Given the description of an element on the screen output the (x, y) to click on. 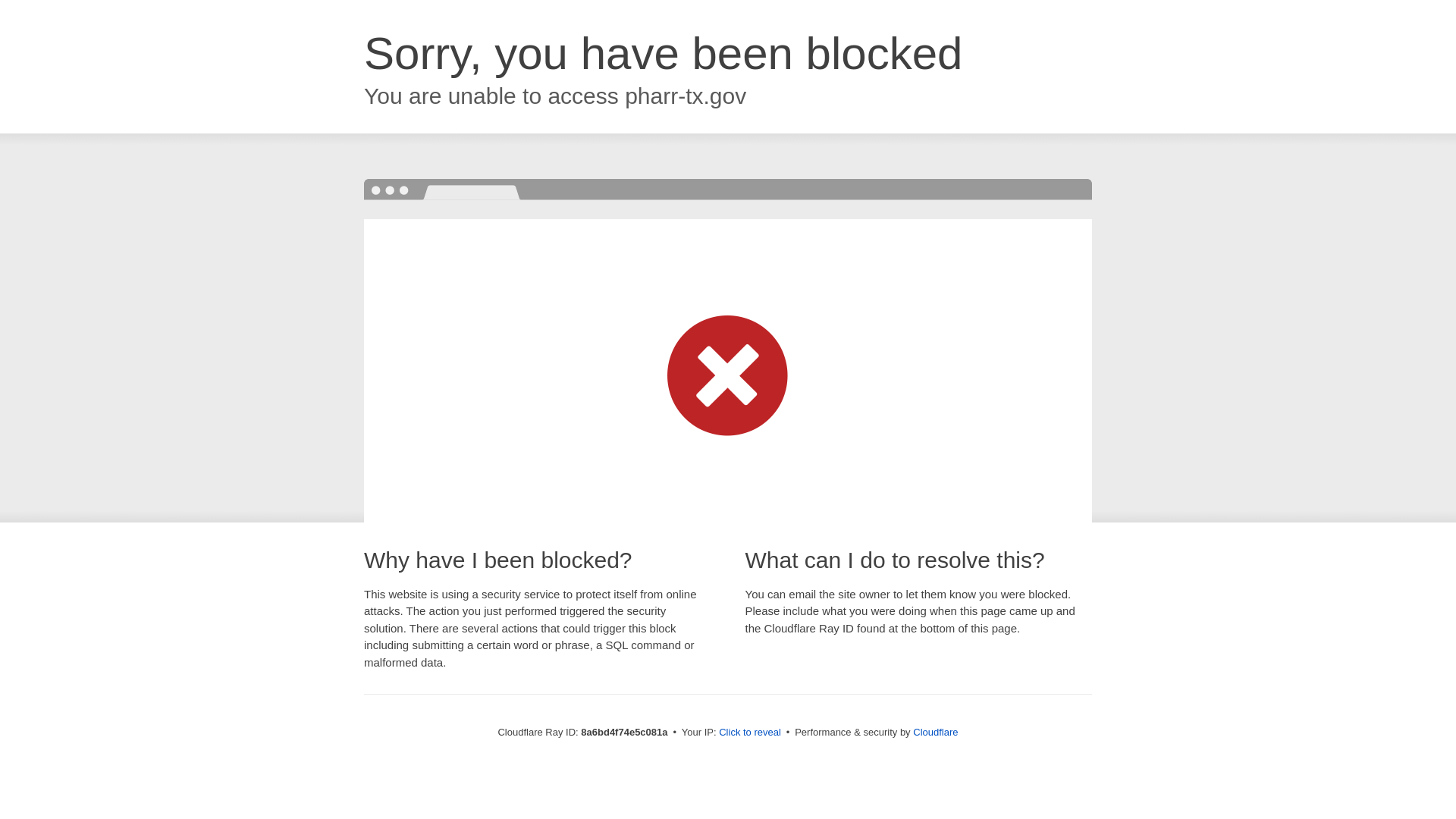
Click to reveal (749, 732)
Cloudflare (935, 731)
